Given the description of an element on the screen output the (x, y) to click on. 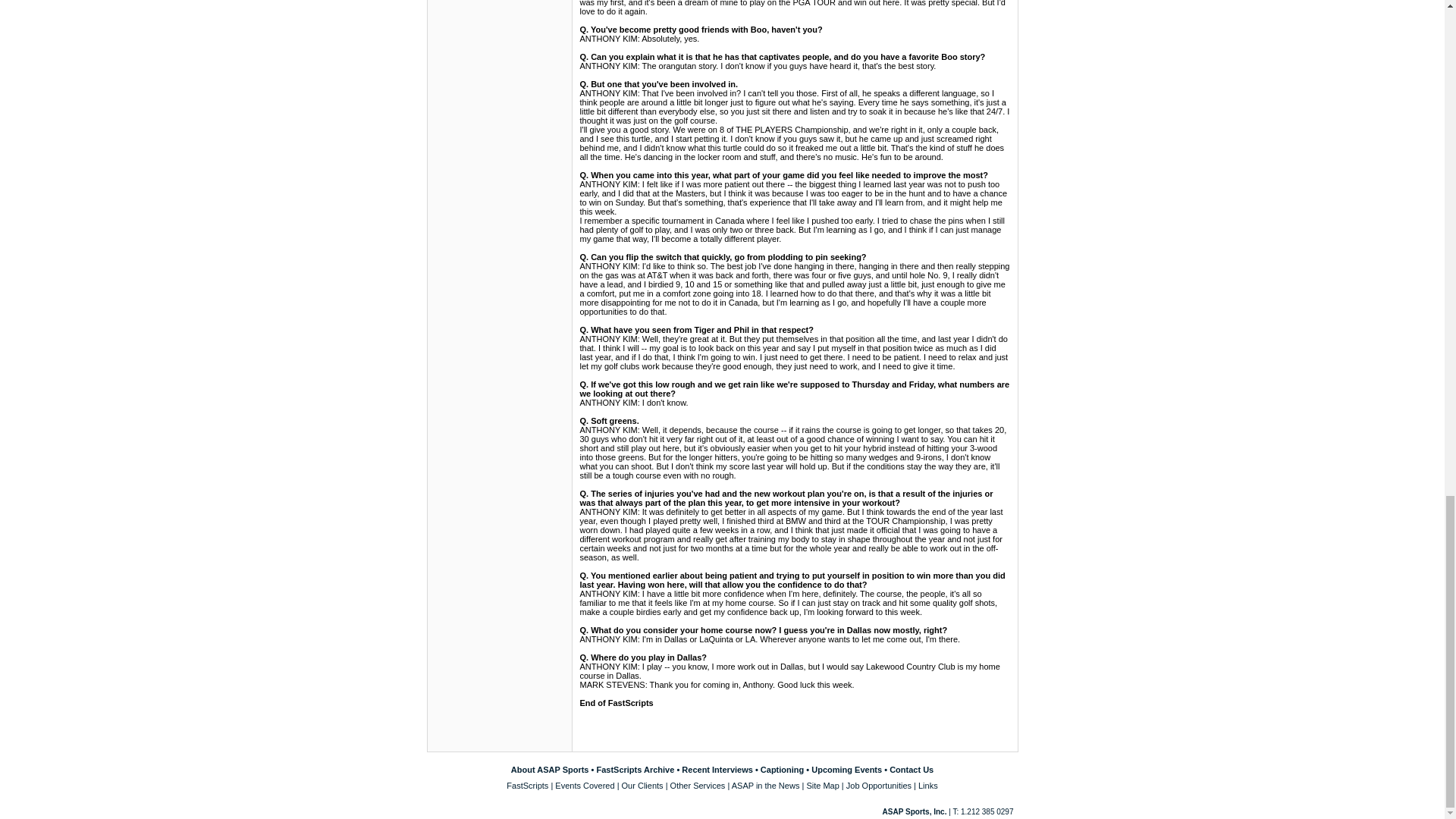
About ASAP Sports (550, 768)
Captioning (781, 768)
Upcoming Events (846, 768)
FastScripts Archive (634, 768)
Recent Interviews (716, 768)
